Given the description of an element on the screen output the (x, y) to click on. 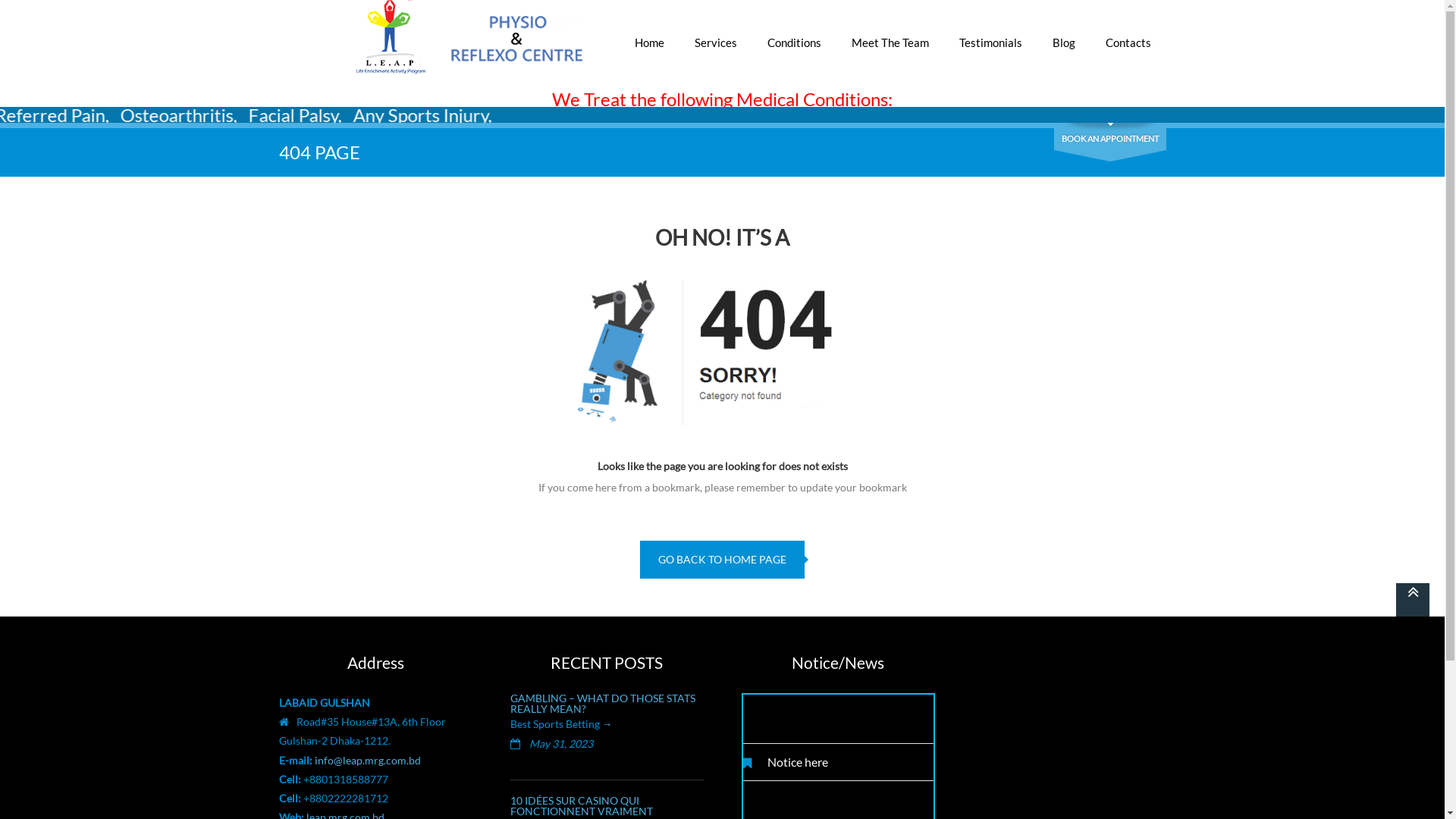
Meet The Team Element type: text (889, 34)
GO BACK TO HOME PAGE Element type: text (722, 559)
Testimonials Element type: text (989, 34)
Slot Online gacor Element type: text (1032, 682)
Blog Element type: text (1063, 34)
Conditions Element type: text (794, 34)
Services Element type: text (715, 34)
Contacts Element type: text (1128, 34)
Home Element type: text (648, 34)
info@leap.mrg.com.bd Element type: text (366, 759)
Notice here Element type: text (790, 768)
